Given the description of an element on the screen output the (x, y) to click on. 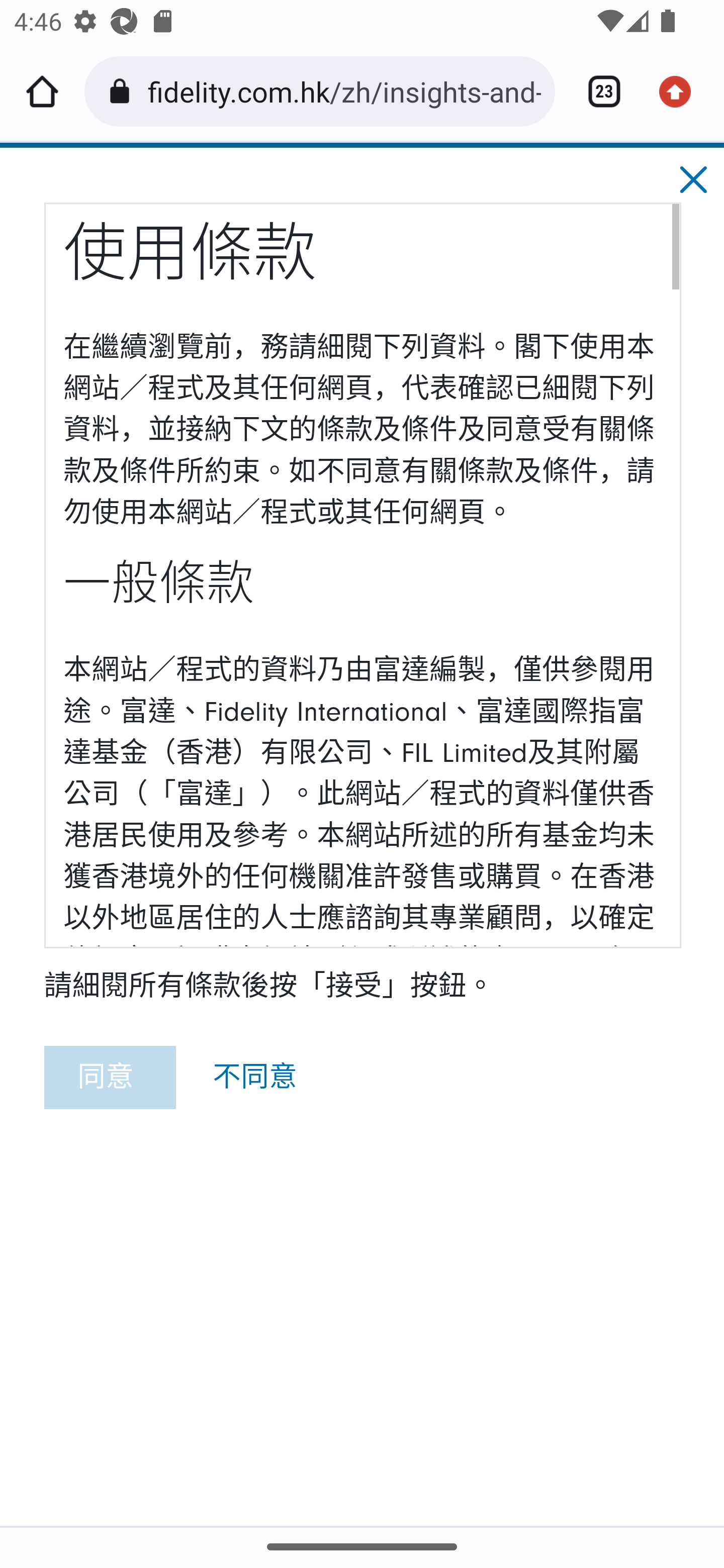
Home (42, 91)
Connection is secure (122, 91)
Switch or close tabs (597, 91)
Update available. More options (681, 91)
